Given the description of an element on the screen output the (x, y) to click on. 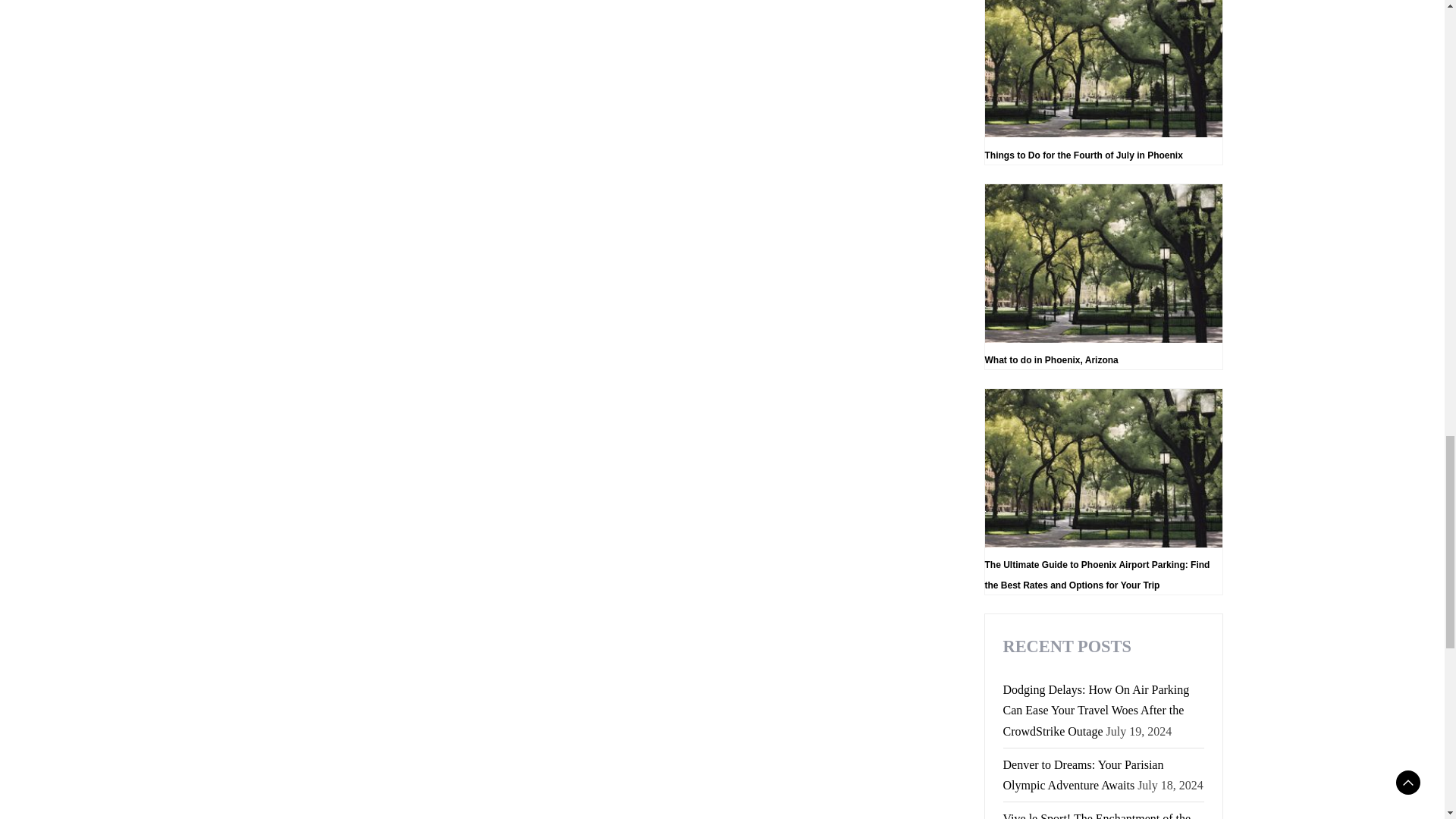
What to do in Phoenix, Arizona (1103, 276)
Things to Do for the Fourth of July in Phoenix (1103, 82)
